Given the description of an element on the screen output the (x, y) to click on. 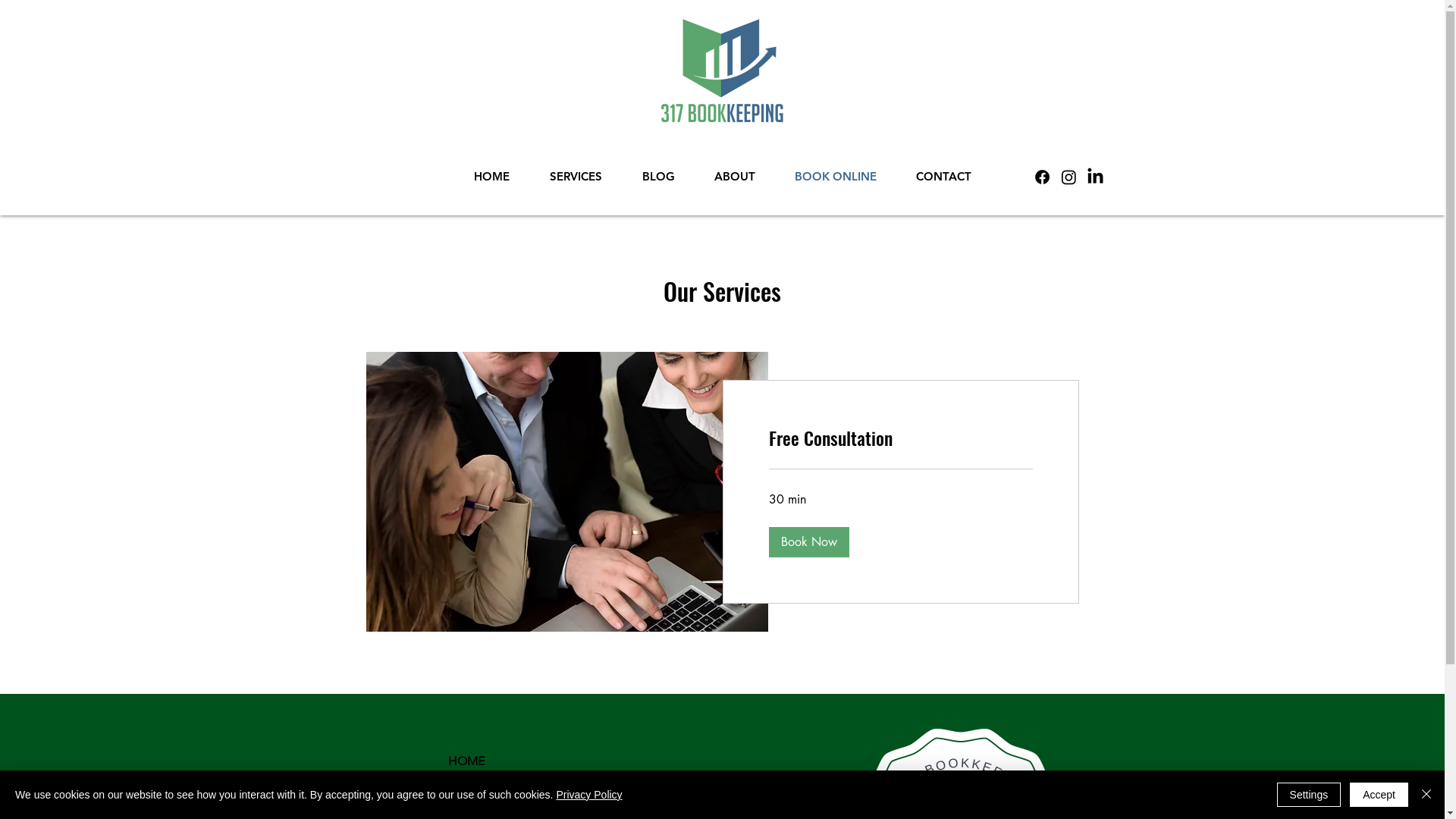
ABOUT Element type: text (734, 176)
Book Now Element type: text (808, 542)
Accept Element type: text (1378, 794)
Free Consultation Element type: text (900, 438)
CONTACT Element type: text (943, 176)
SERVICES Element type: text (500, 788)
SERVICES Element type: text (575, 176)
Settings Element type: text (1309, 794)
Privacy Policy Element type: text (588, 794)
BOOK ONLINE Element type: text (835, 176)
BLOG Element type: text (657, 176)
HOME Element type: text (491, 176)
HOME Element type: text (500, 761)
